Given the description of an element on the screen output the (x, y) to click on. 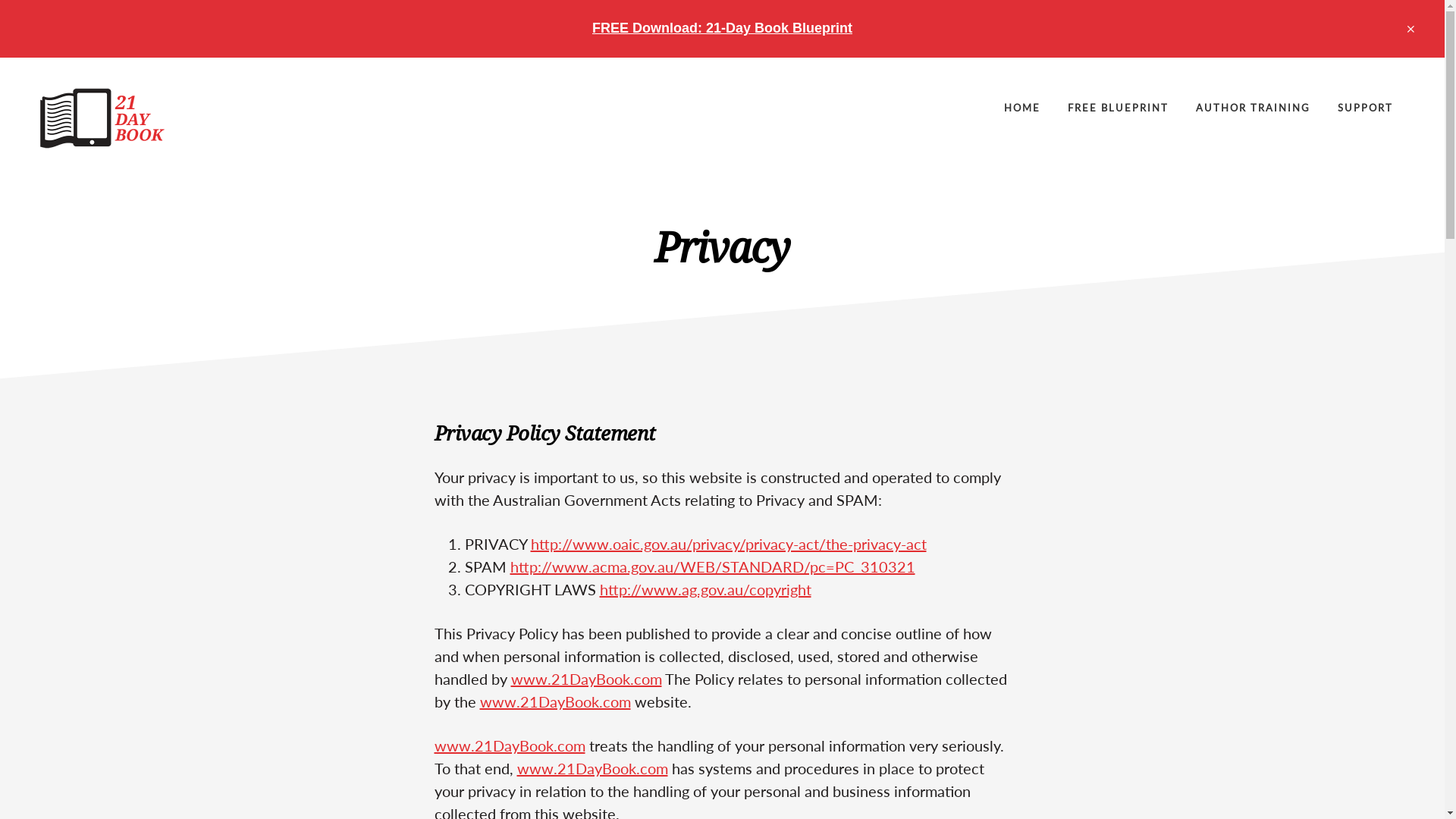
www.21DayBook.com Element type: text (554, 701)
CLOSE TOP BANNER Element type: text (1411, 28)
21 DAY BOOK Element type: text (151, 117)
FREE BLUEPRINT Element type: text (1118, 107)
http://www.acma.gov.au/WEB/STANDARD/pc=PC_310321 Element type: text (711, 566)
Skip to main content Element type: text (0, 0)
www.21DayBook.com Element type: text (508, 745)
http://www.oaic.gov.au/privacy/privacy-act/the-privacy-act Element type: text (728, 543)
HOME Element type: text (1022, 107)
www.21DayBook.com Element type: text (592, 768)
SUPPORT Element type: text (1365, 107)
http://www.ag.gov.au/copyright Element type: text (704, 589)
www.21DayBook.com Element type: text (586, 678)
AUTHOR TRAINING Element type: text (1253, 107)
FREE Download: 21-Day Book Blueprint Element type: text (722, 27)
